Given the description of an element on the screen output the (x, y) to click on. 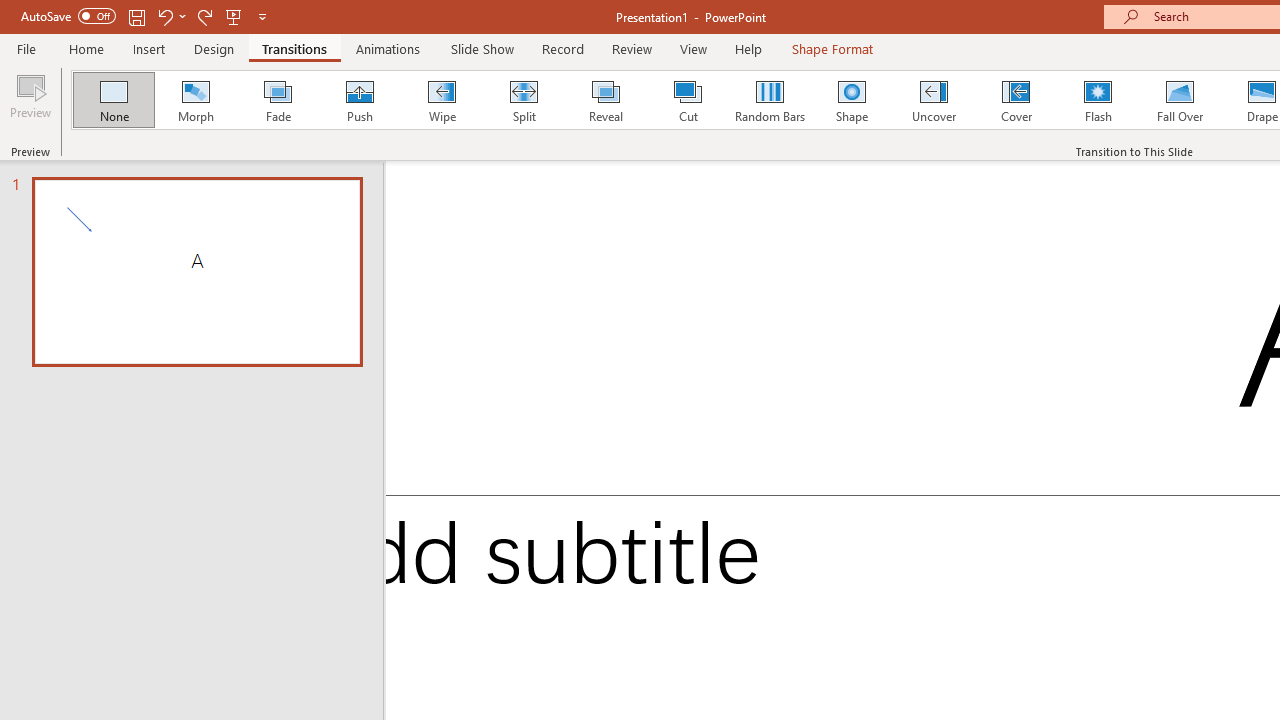
Morph (195, 100)
Fall Over (1180, 100)
Reveal (605, 100)
